Given the description of an element on the screen output the (x, y) to click on. 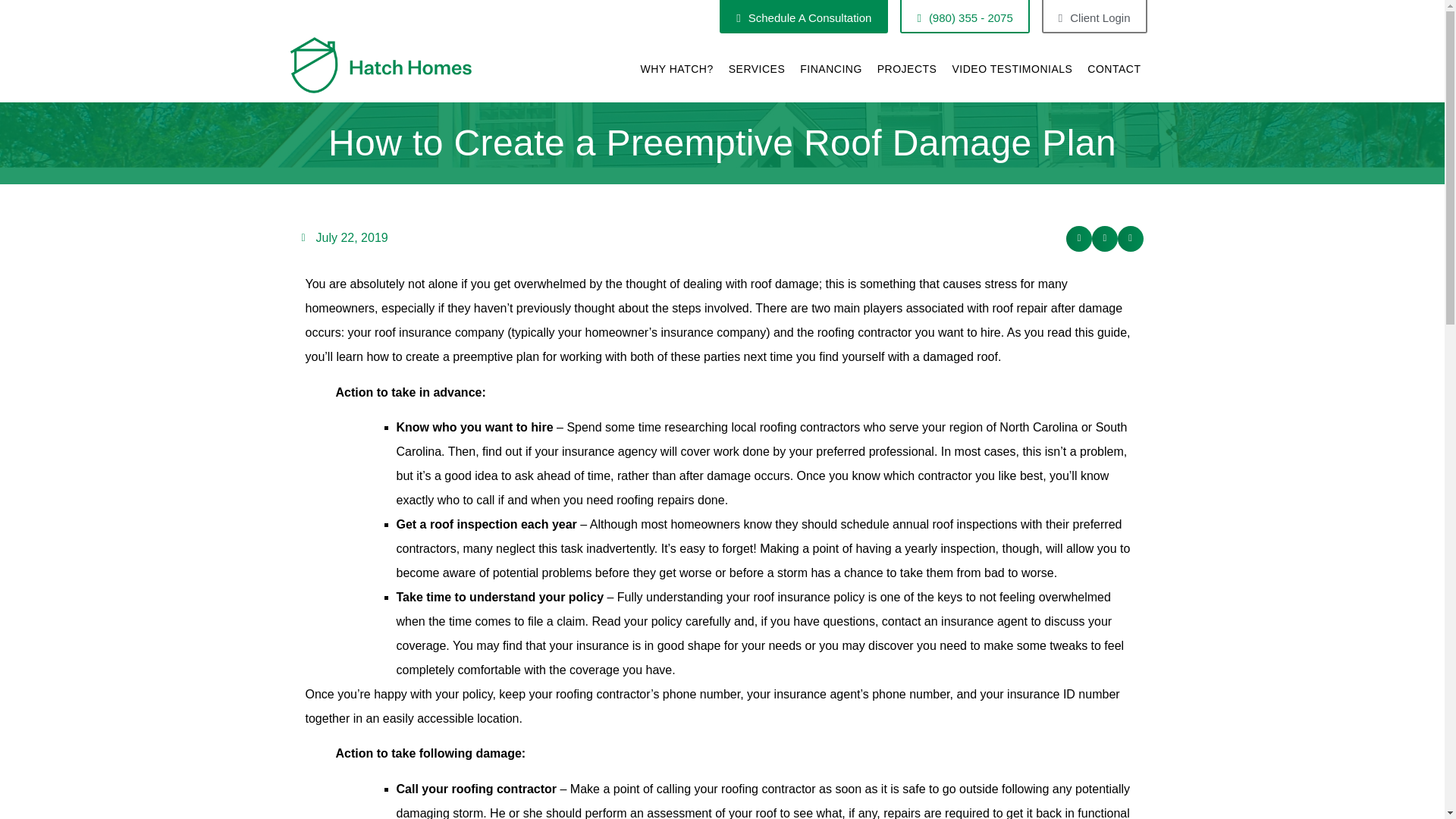
SERVICES (756, 68)
Schedule A Consultation (803, 16)
Client Login (1094, 16)
WHY HATCH? (675, 68)
